Given the description of an element on the screen output the (x, y) to click on. 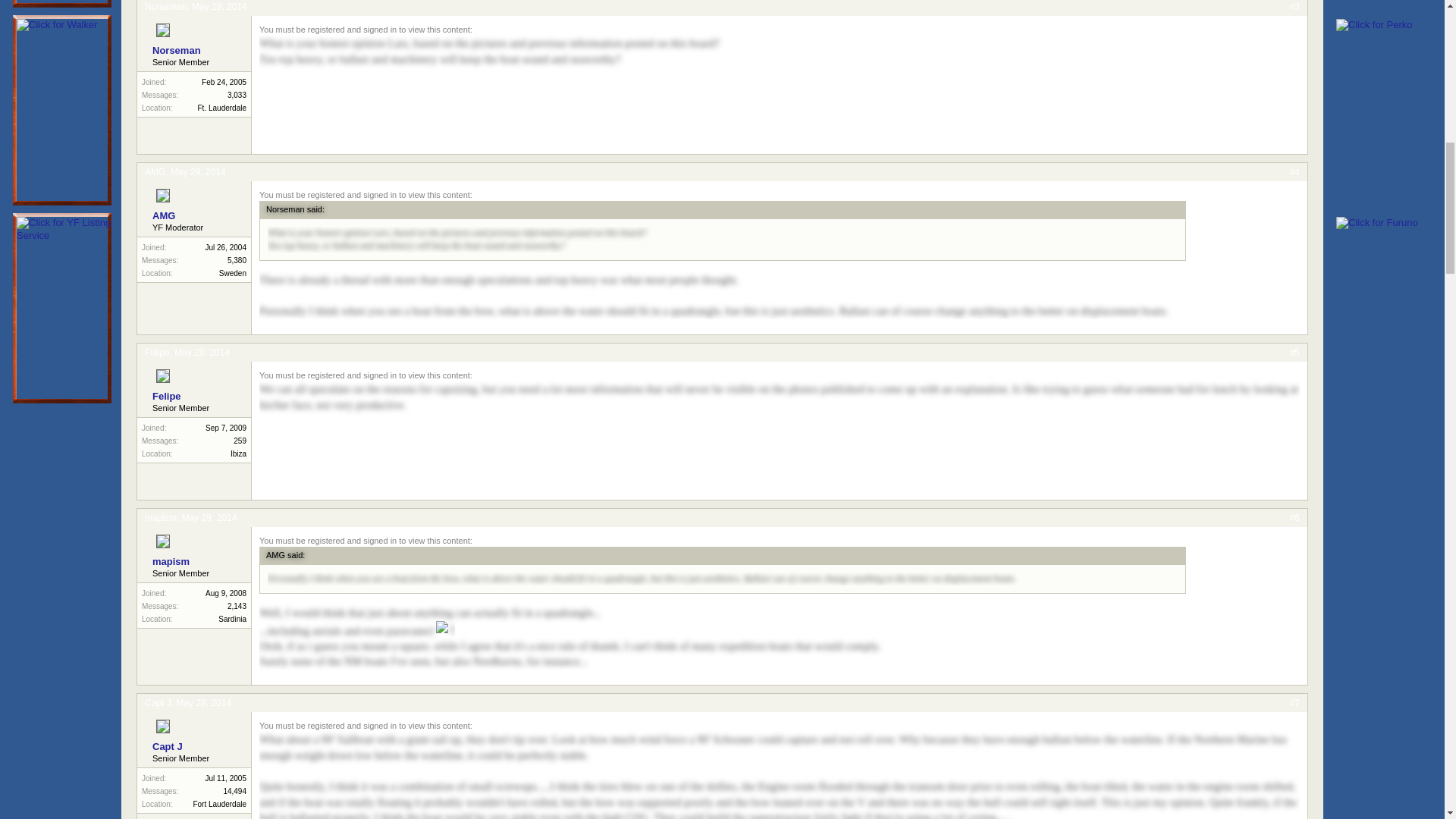
Click for Furuno (1377, 223)
Click for Walker (56, 24)
Click for Perko (1374, 24)
Click for YF Listing Service (69, 229)
